Given the description of an element on the screen output the (x, y) to click on. 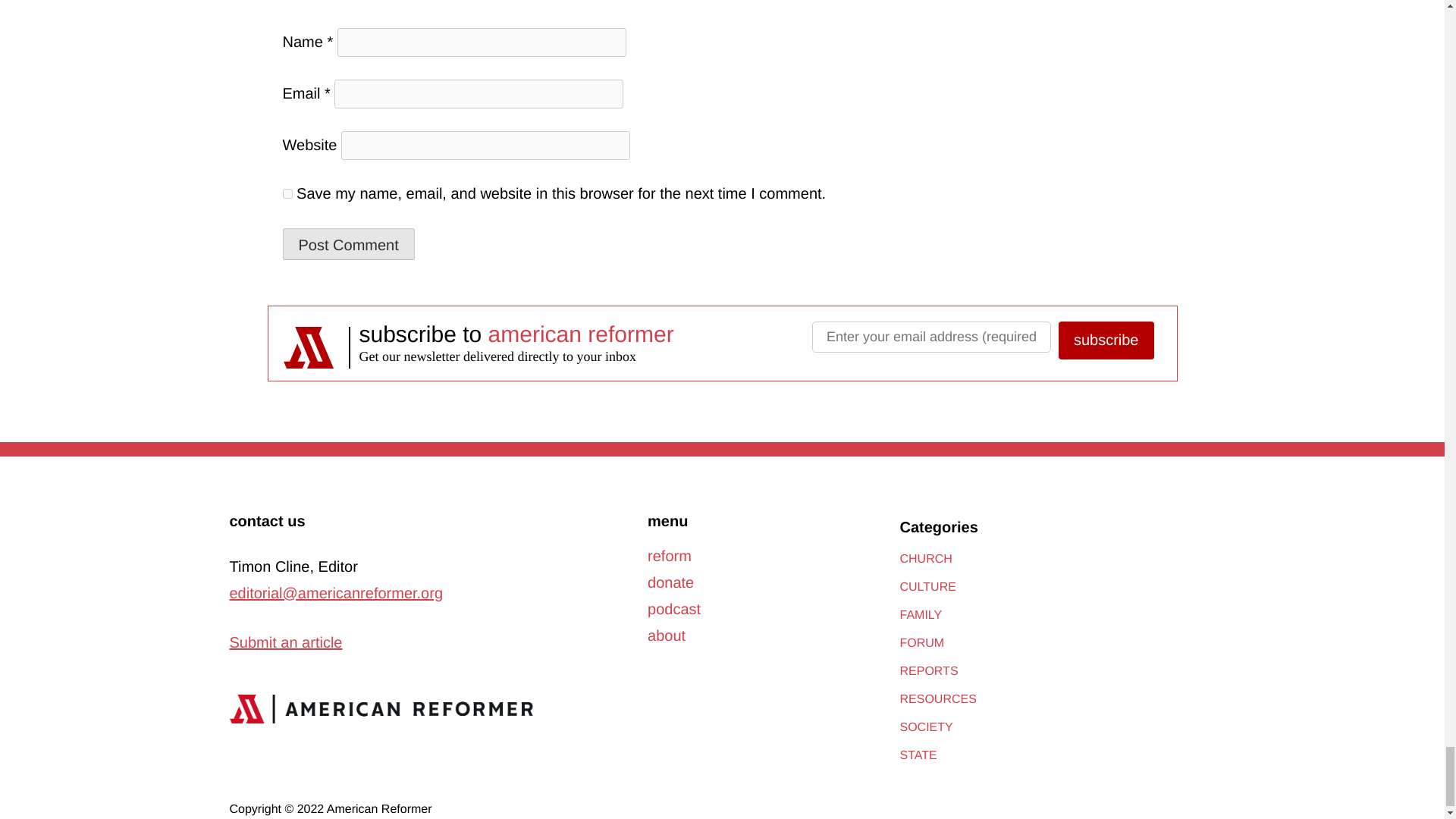
yes (287, 194)
Post Comment (347, 244)
Subscribe (1106, 340)
